Given the description of an element on the screen output the (x, y) to click on. 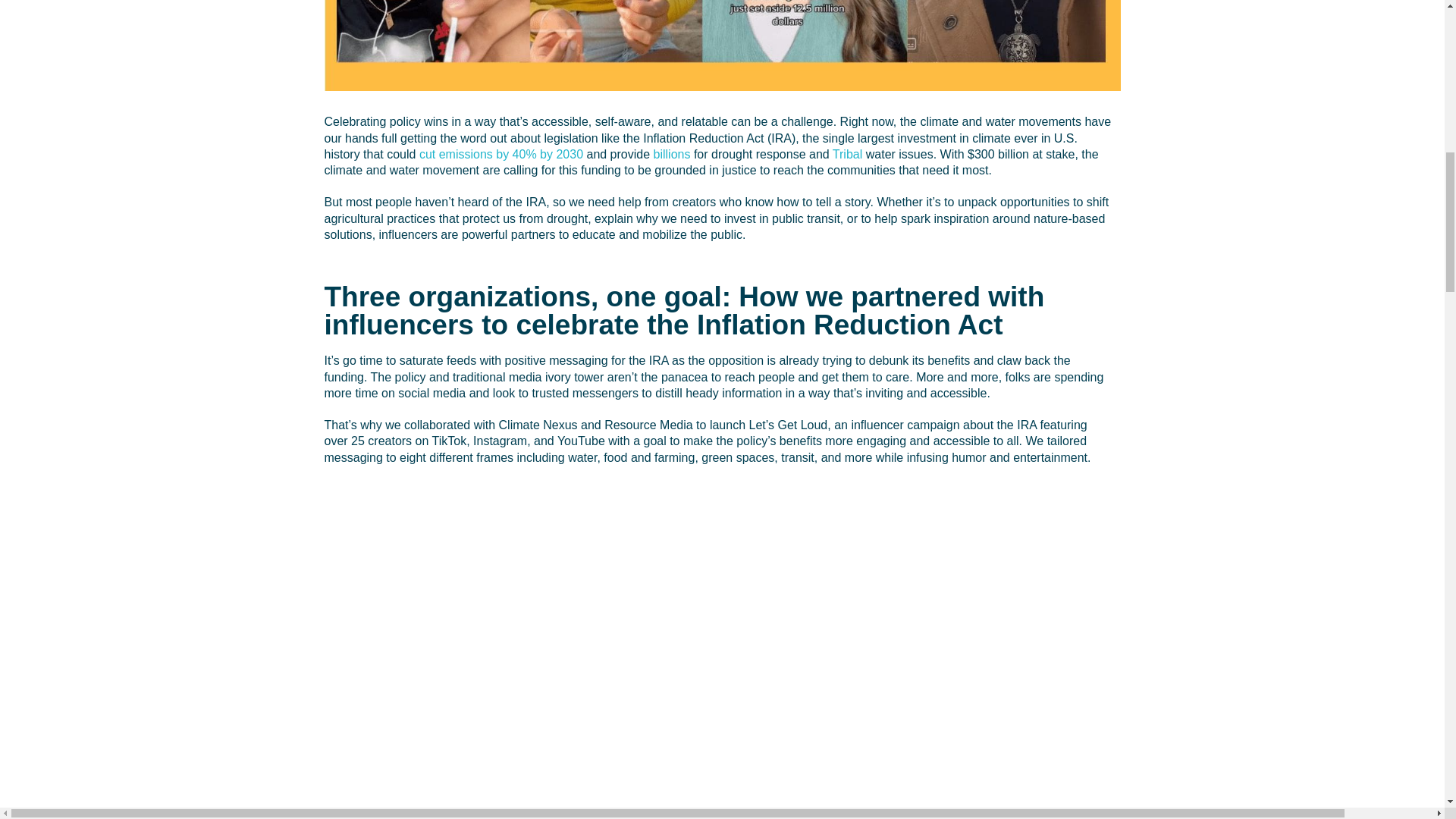
Tribal (846, 154)
billions (671, 154)
